Given the description of an element on the screen output the (x, y) to click on. 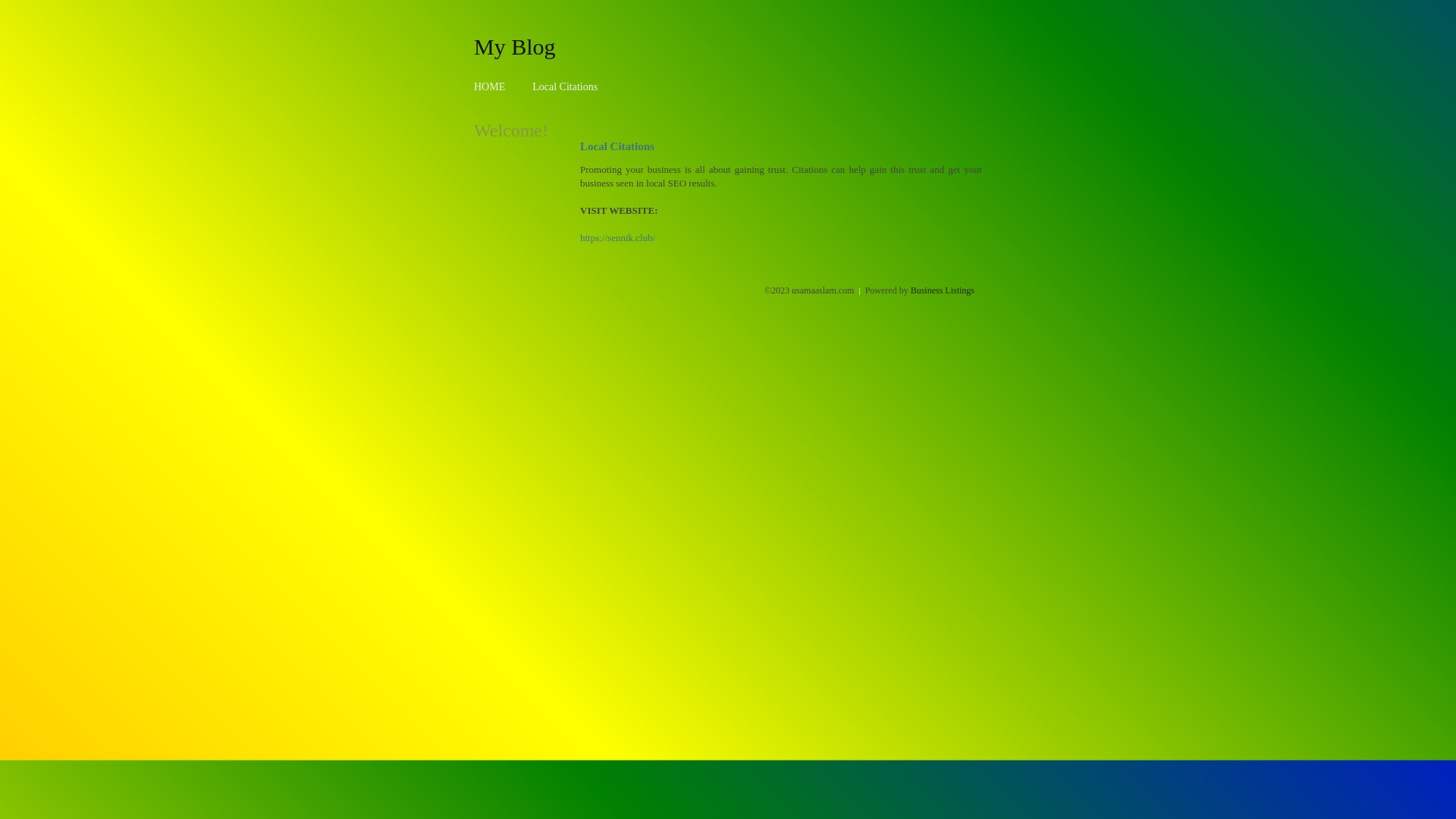
My Blog Element type: text (514, 46)
Local Citations Element type: text (564, 86)
https://sennik.club/ Element type: text (617, 237)
HOME Element type: text (489, 86)
Business Listings Element type: text (942, 290)
